Given the description of an element on the screen output the (x, y) to click on. 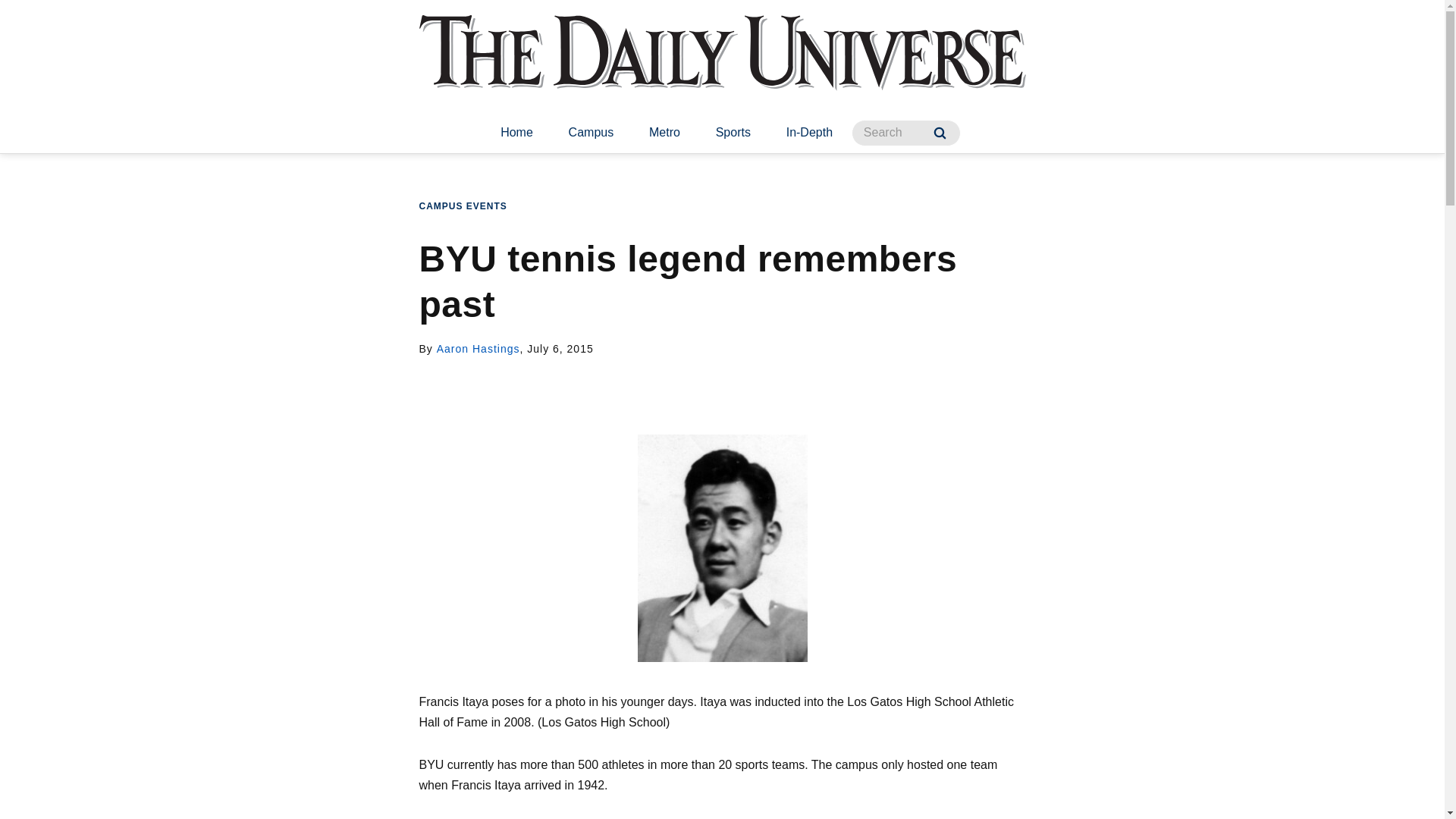
Metro (664, 133)
Search (939, 132)
Home (516, 133)
Campus (590, 133)
CAMPUS EVENTS (462, 206)
Sports (732, 133)
In-Depth (809, 133)
Aaron Hastings (477, 348)
